Given the description of an element on the screen output the (x, y) to click on. 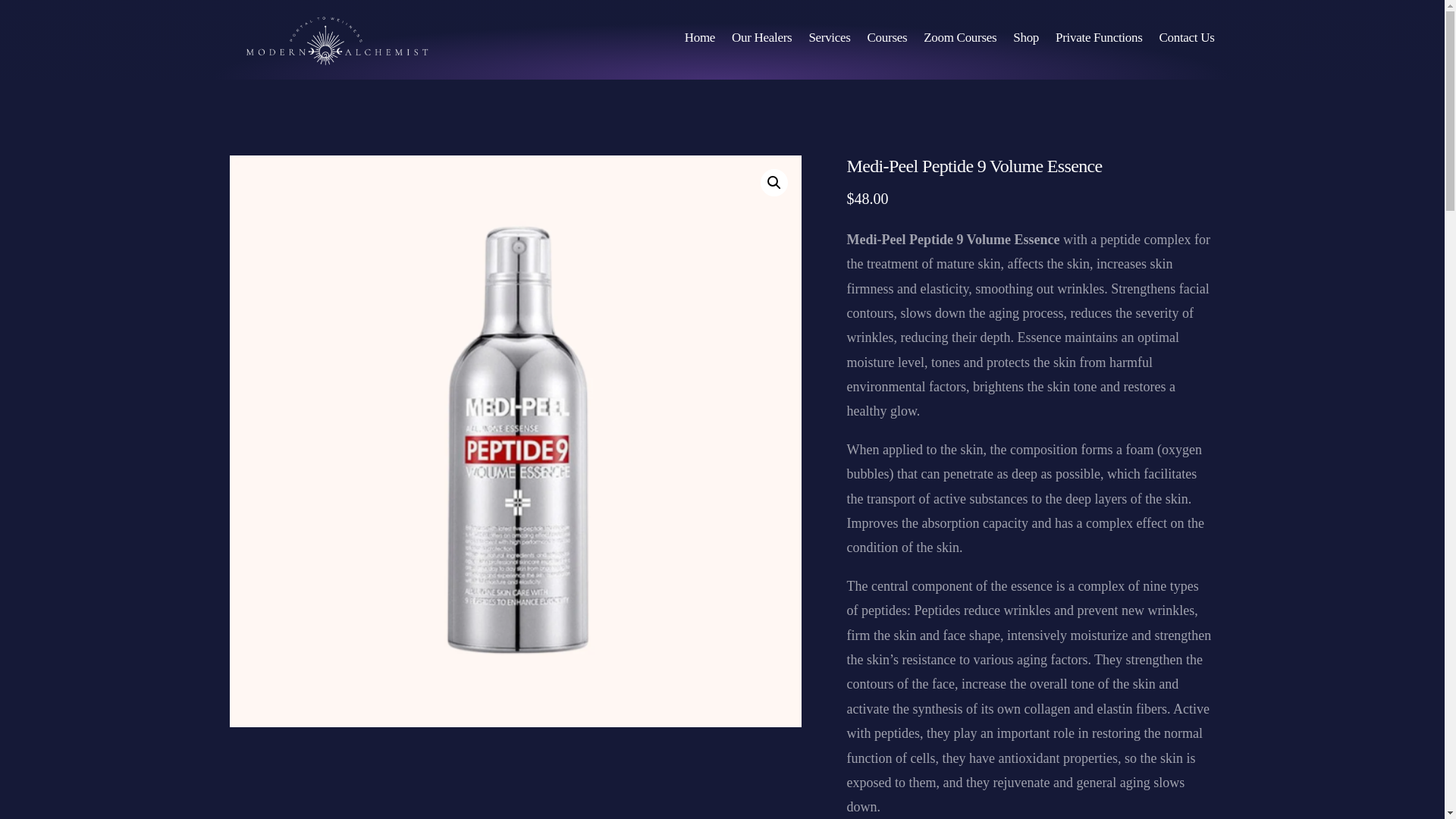
Zoom Courses (959, 38)
Our Healers (761, 38)
Contact Us (1186, 38)
Private Functions (1098, 38)
